Given the description of an element on the screen output the (x, y) to click on. 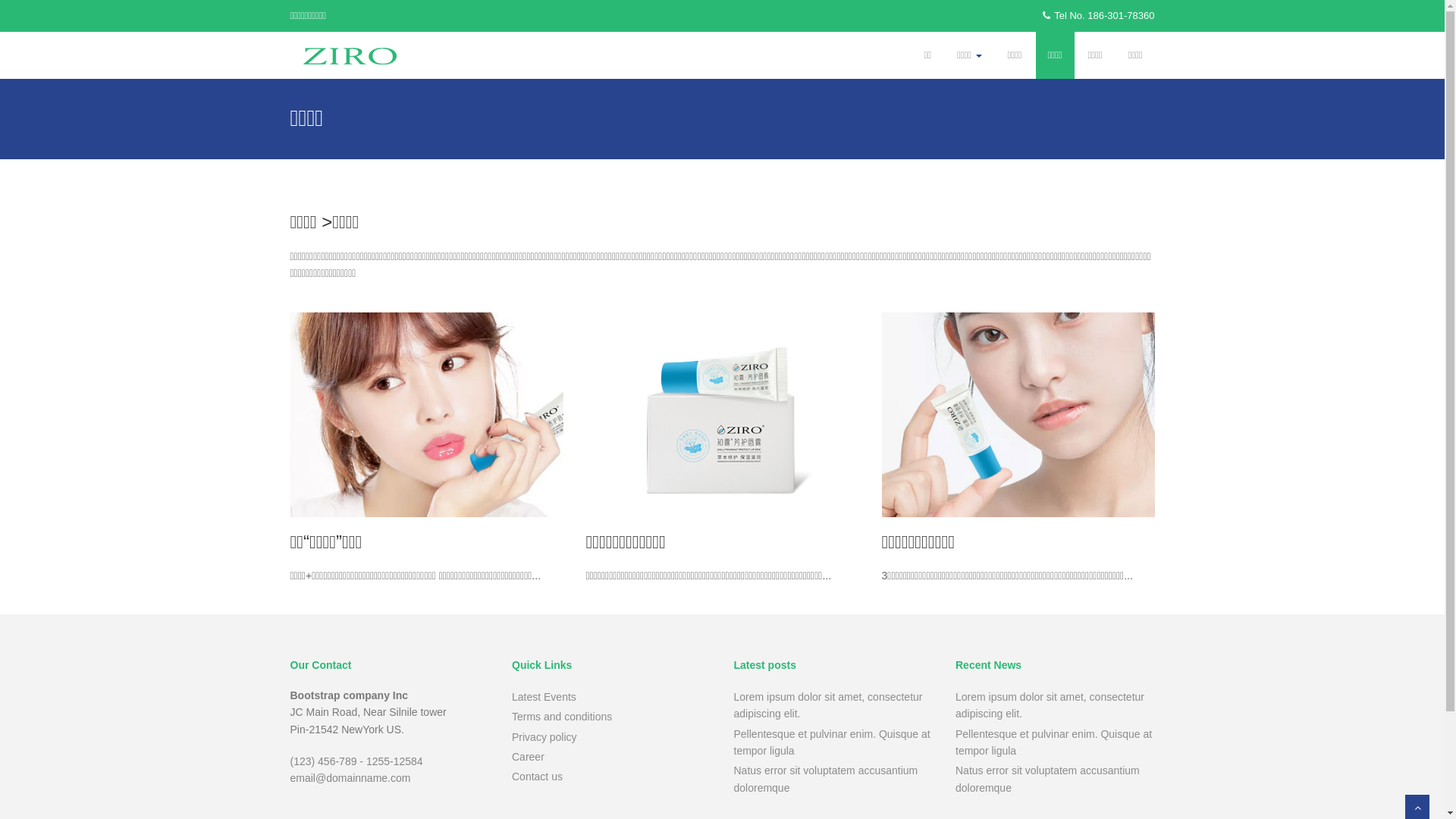
Pellentesque et pulvinar enim. Quisque at tempor ligula Element type: text (1053, 742)
Terms and conditions Element type: text (561, 716)
Privacy policy Element type: text (544, 737)
Latest Events Element type: text (543, 696)
Natus error sit voluptatem accusantium doloremque Element type: text (826, 778)
Lorem ipsum dolor sit amet, consectetur adipiscing elit. Element type: text (828, 704)
Pellentesque et pulvinar enim. Quisque at tempor ligula Element type: text (832, 742)
Career Element type: text (527, 756)
Natus error sit voluptatem accusantium doloremque Element type: text (1047, 778)
Contact us Element type: text (536, 776)
Lorem ipsum dolor sit amet, consectetur adipiscing elit. Element type: text (1049, 704)
